Given the description of an element on the screen output the (x, y) to click on. 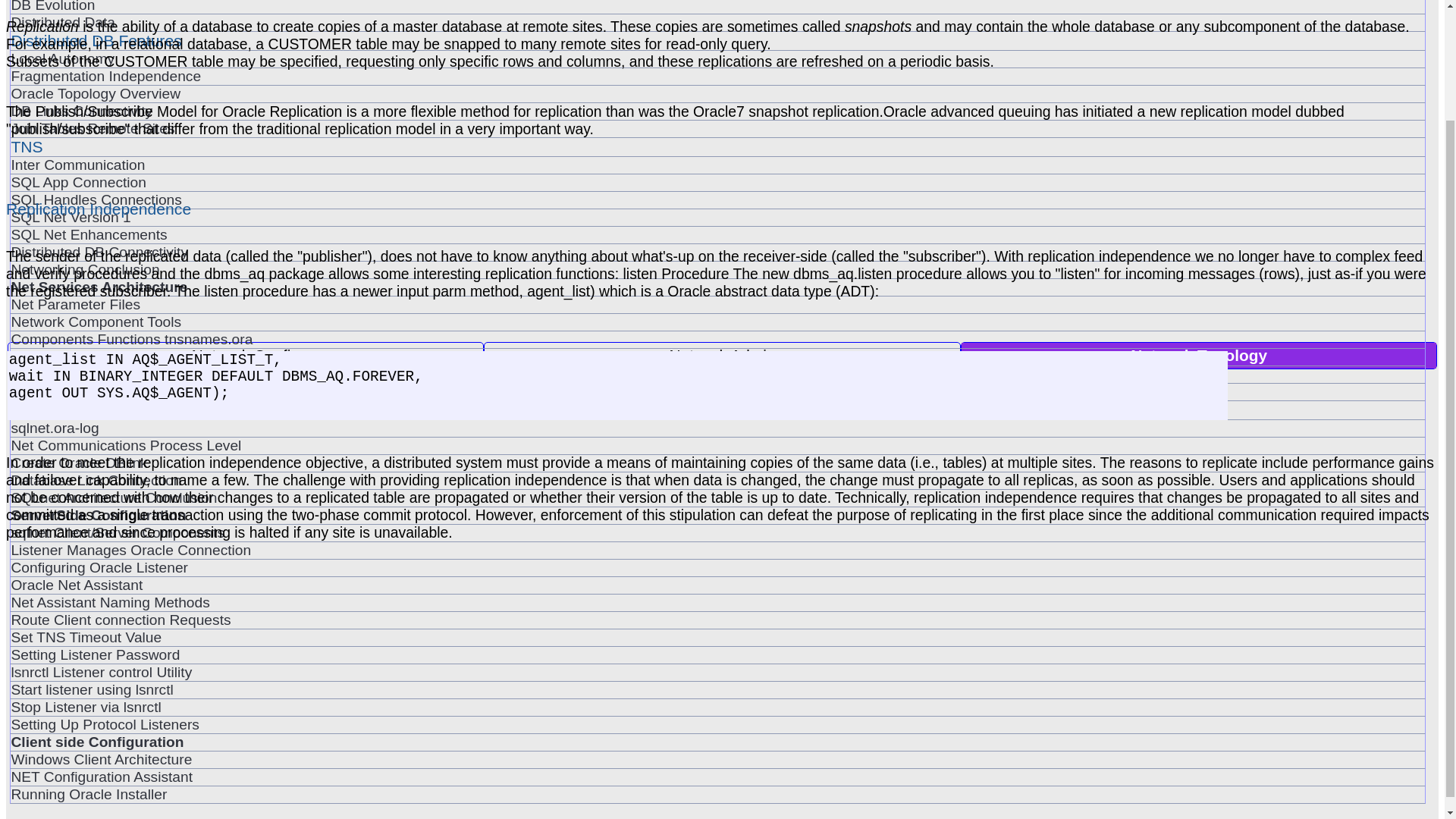
protocol.ora File (716, 356)
Components Functions tnsnames.ora (716, 339)
Network Admin (721, 355)
Create Oracle DBlink (716, 463)
Net Parameter Files (716, 304)
sqlnet.ora File Location (716, 392)
sqlnet.ora-log (716, 428)
Net Services Architecture (716, 287)
Fragmentation Independence (716, 76)
Networking Conclusion (716, 269)
